Given the description of an element on the screen output the (x, y) to click on. 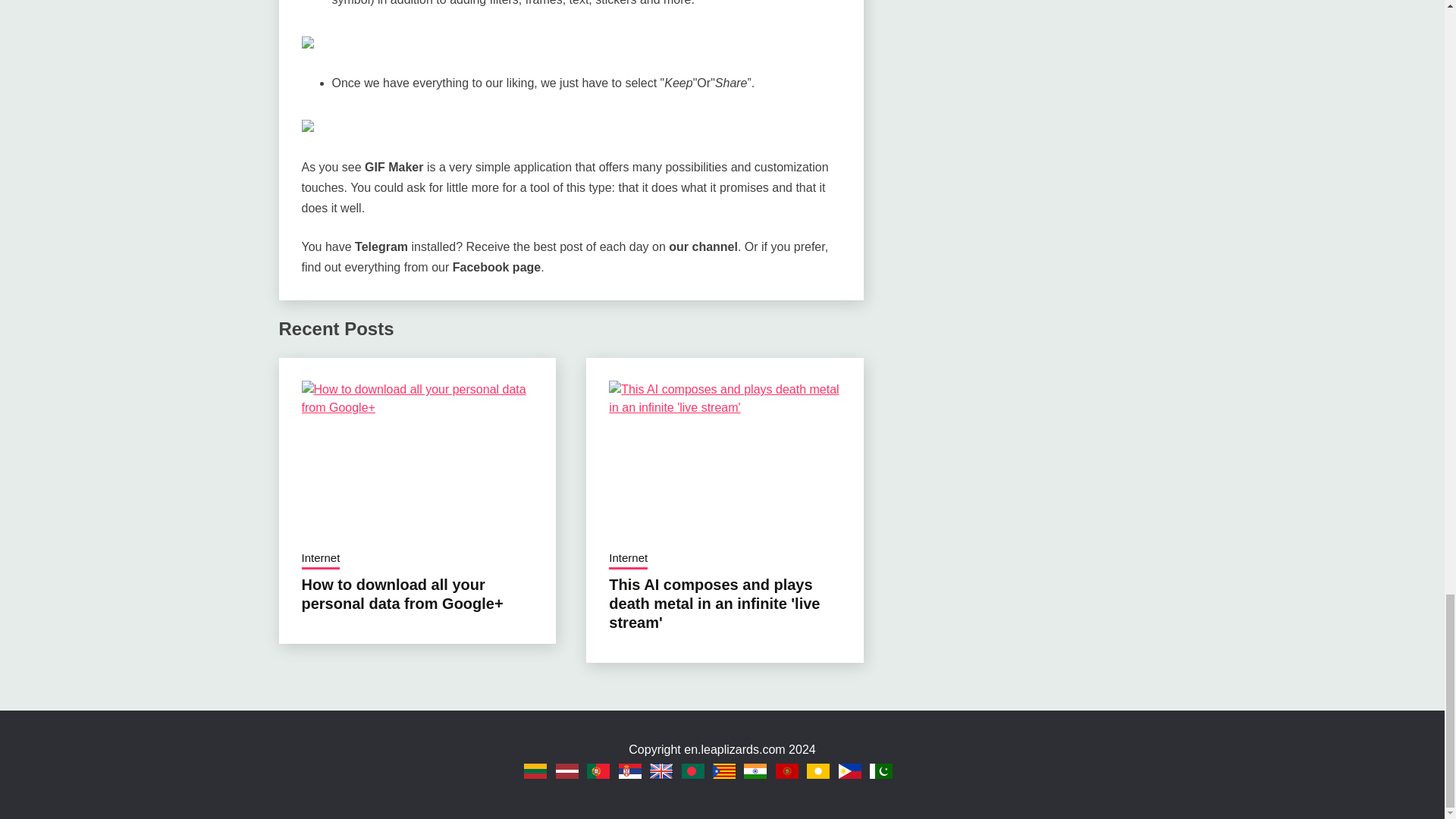
Internet (627, 559)
Internet (320, 559)
